Given the description of an element on the screen output the (x, y) to click on. 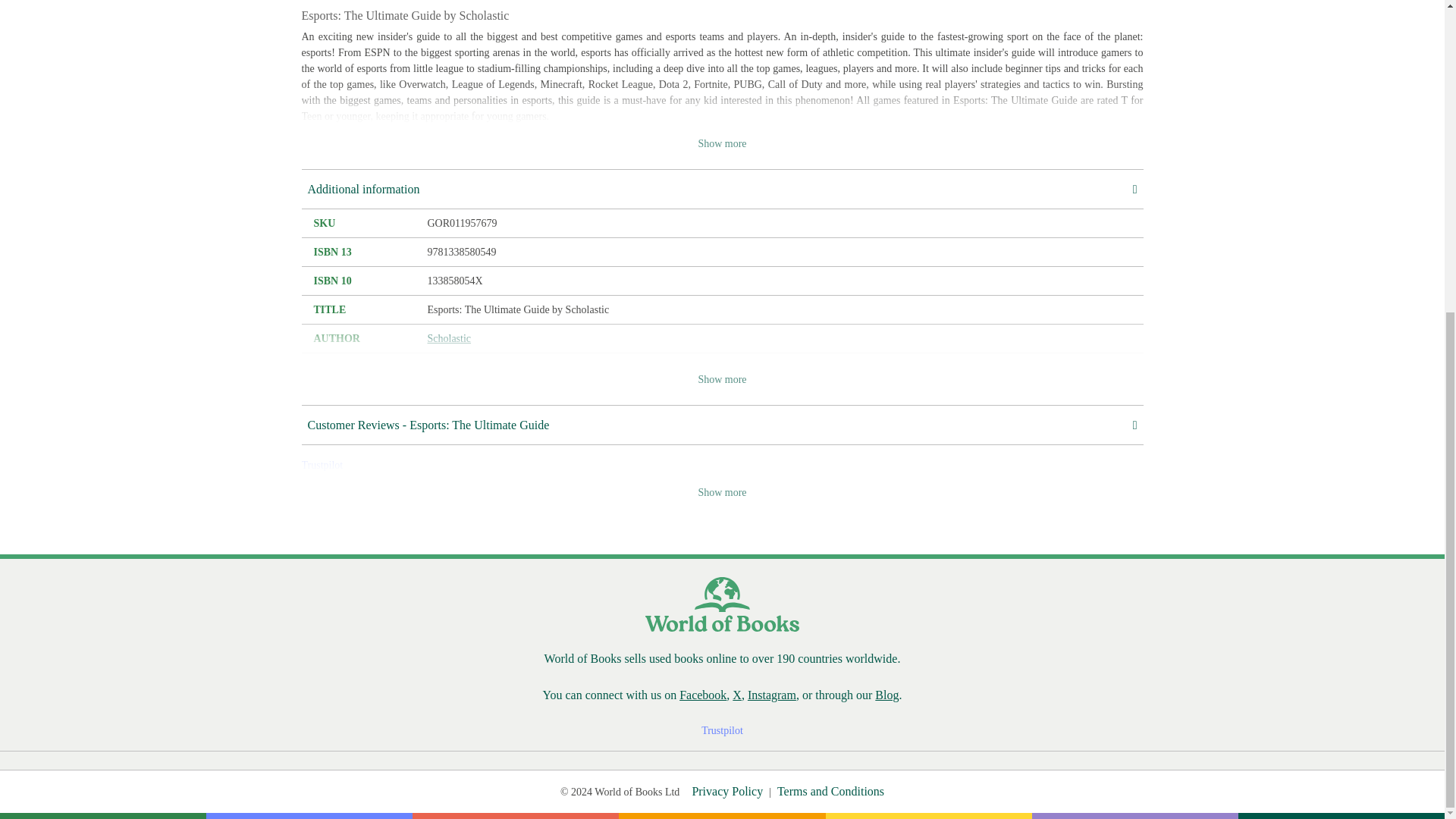
Facebook (702, 694)
Show more (721, 379)
X (736, 694)
Show more (721, 143)
Instagram (772, 694)
Scholastic (449, 337)
Show more (721, 492)
Trustpilot (322, 464)
